Given the description of an element on the screen output the (x, y) to click on. 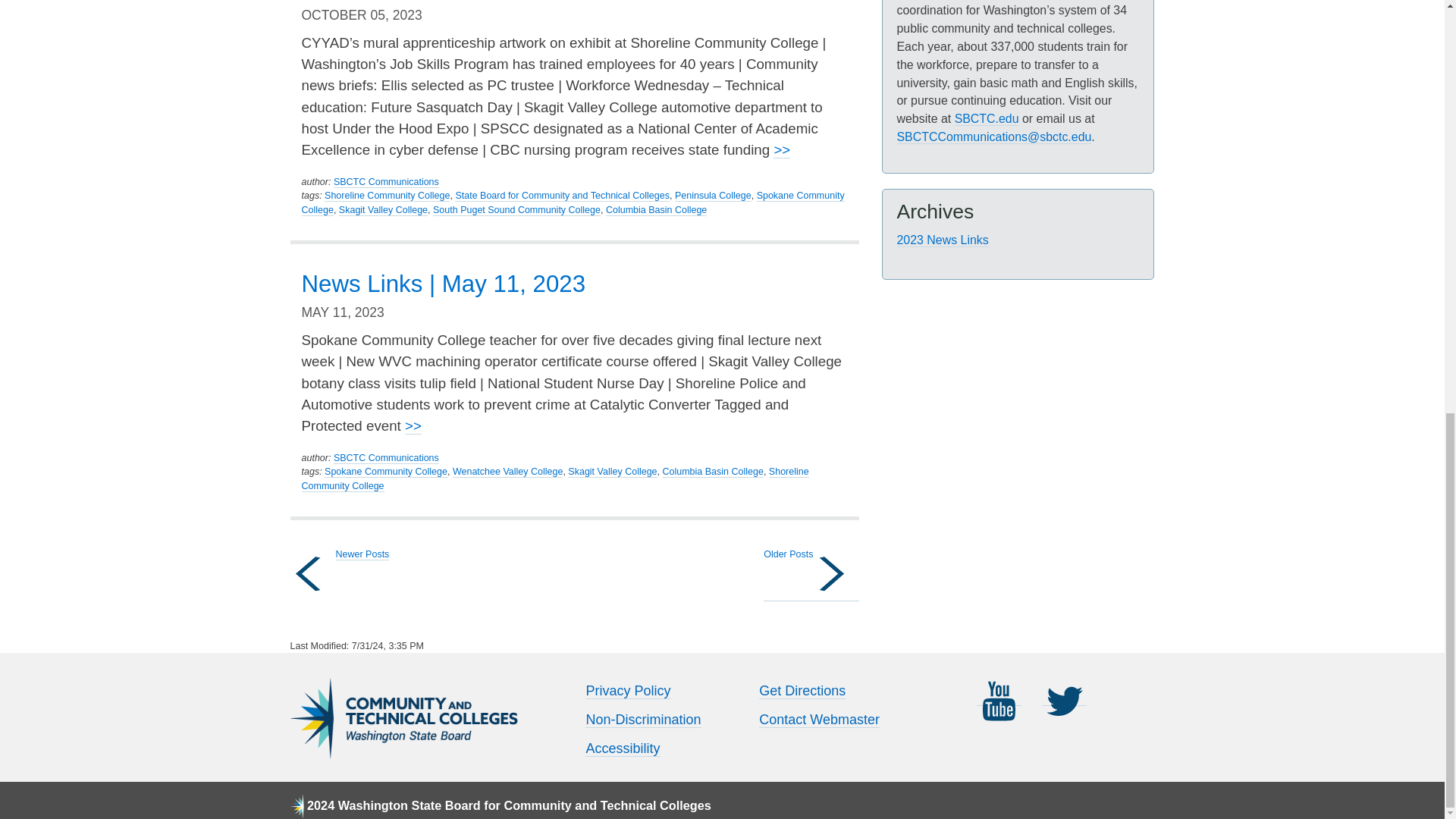
SBCTC Communications (386, 182)
Shoreline Community College (386, 195)
Skagit Valley College (383, 210)
Columbia Basin College (655, 210)
South Puget Sound Community College (515, 210)
Spokane Community College (572, 203)
State Board for Community and Technical Colleges (561, 195)
Peninsula College (713, 195)
